Given the description of an element on the screen output the (x, y) to click on. 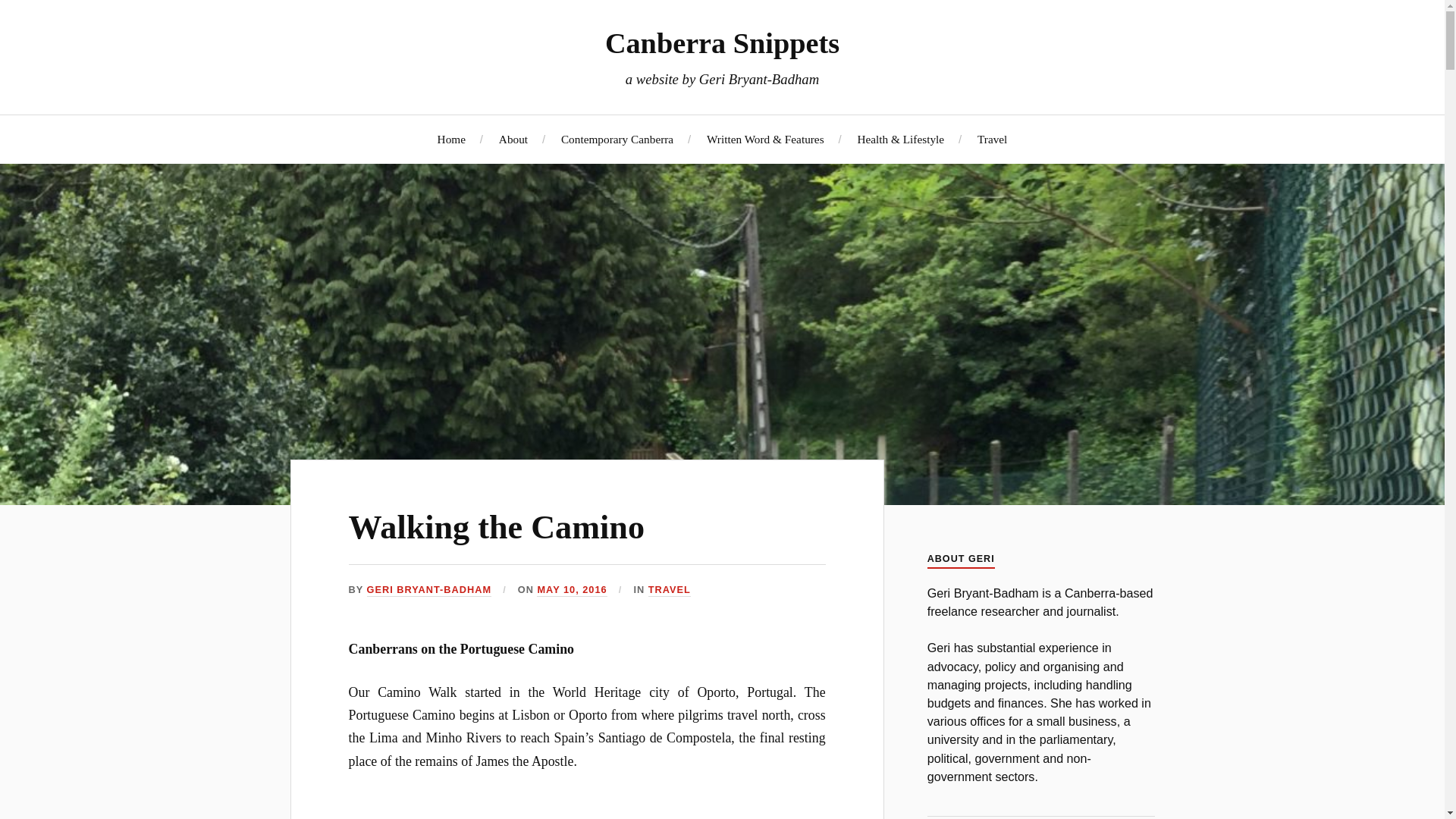
GERI BRYANT-BADHAM (429, 590)
About (513, 138)
Home (451, 138)
Walking the Camino (497, 527)
MAY 10, 2016 (572, 590)
Contemporary Canberra (616, 138)
Posts by Geri Bryant-Badham (429, 590)
Travel (991, 138)
Canberra Snippets (722, 42)
TRAVEL (668, 590)
